Given the description of an element on the screen output the (x, y) to click on. 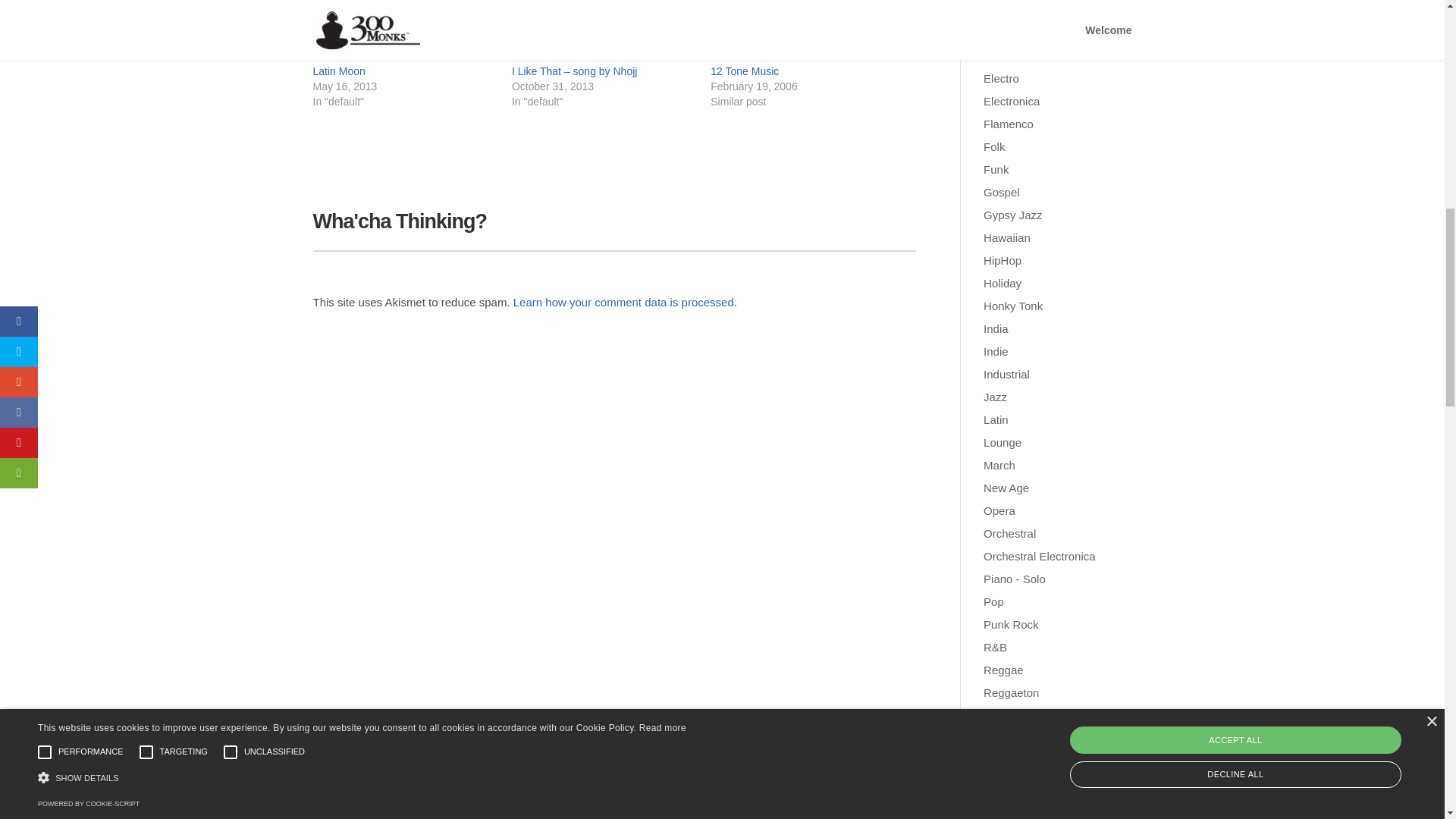
Latin Moon (339, 70)
Learn how your comment data is processed (623, 301)
Latin Moon (339, 70)
Disco (997, 10)
12 Tone Music (744, 70)
Drum n Bass (1016, 32)
12 Tone Music (744, 70)
